Given the description of an element on the screen output the (x, y) to click on. 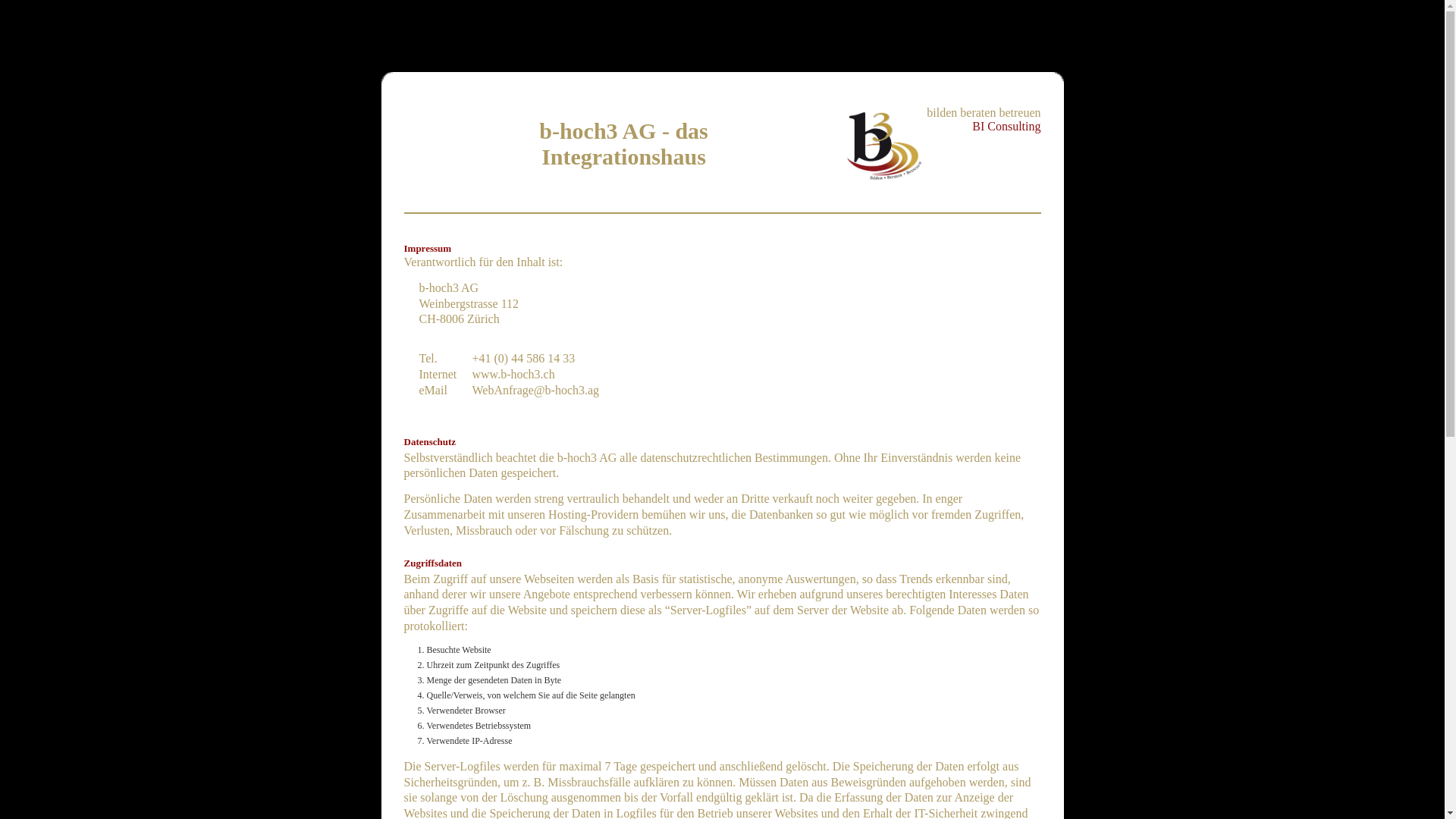
WebAnfrage@b-hoch3.ag Element type: text (535, 389)
www.b-hoch3.ch Element type: text (512, 373)
